Given the description of an element on the screen output the (x, y) to click on. 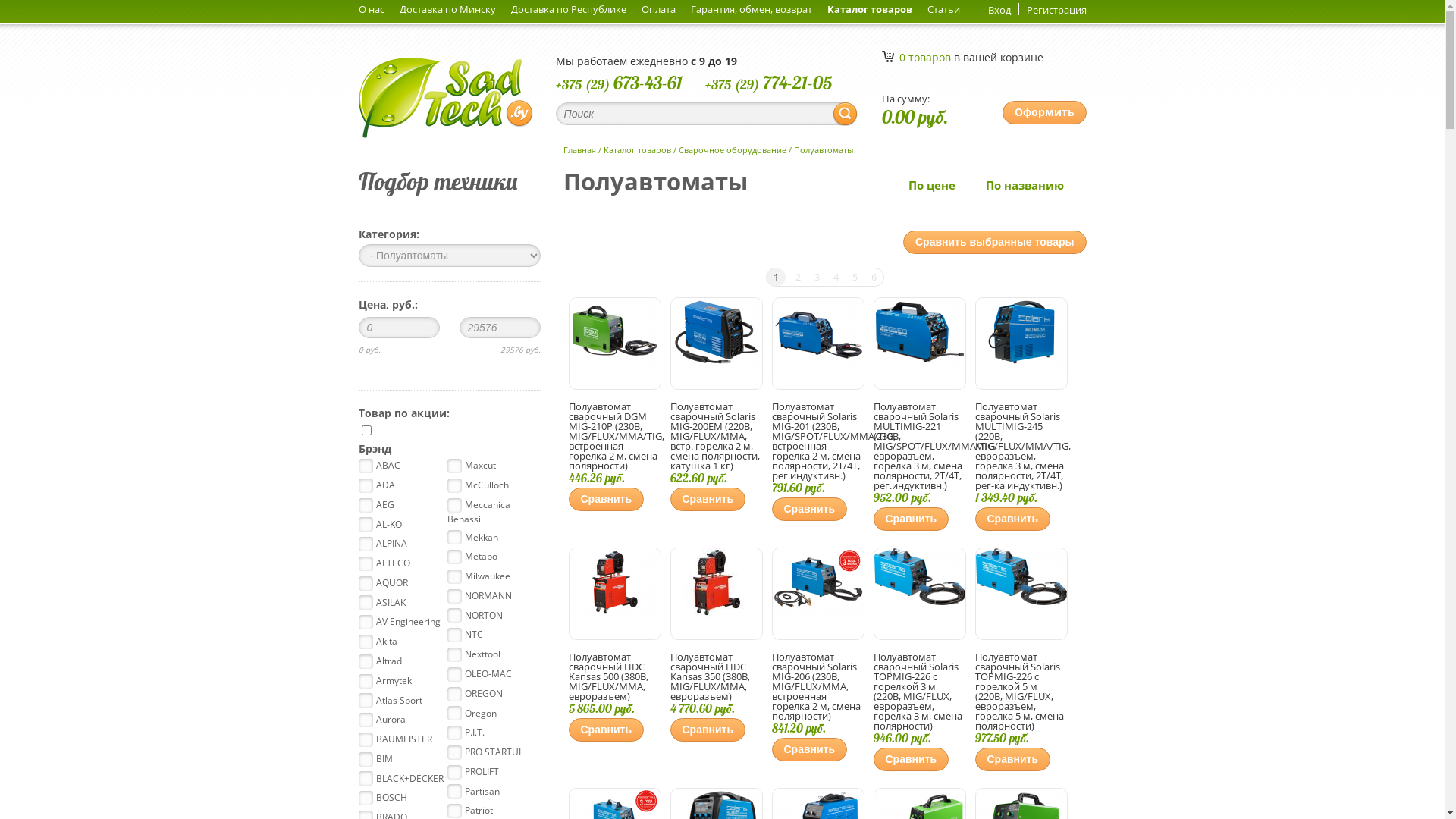
3 Element type: text (815, 276)
1 Element type: text (774, 276)
6 Element type: text (873, 276)
2 Element type: text (797, 276)
5 Element type: text (853, 276)
4 Element type: text (835, 276)
